Given the description of an element on the screen output the (x, y) to click on. 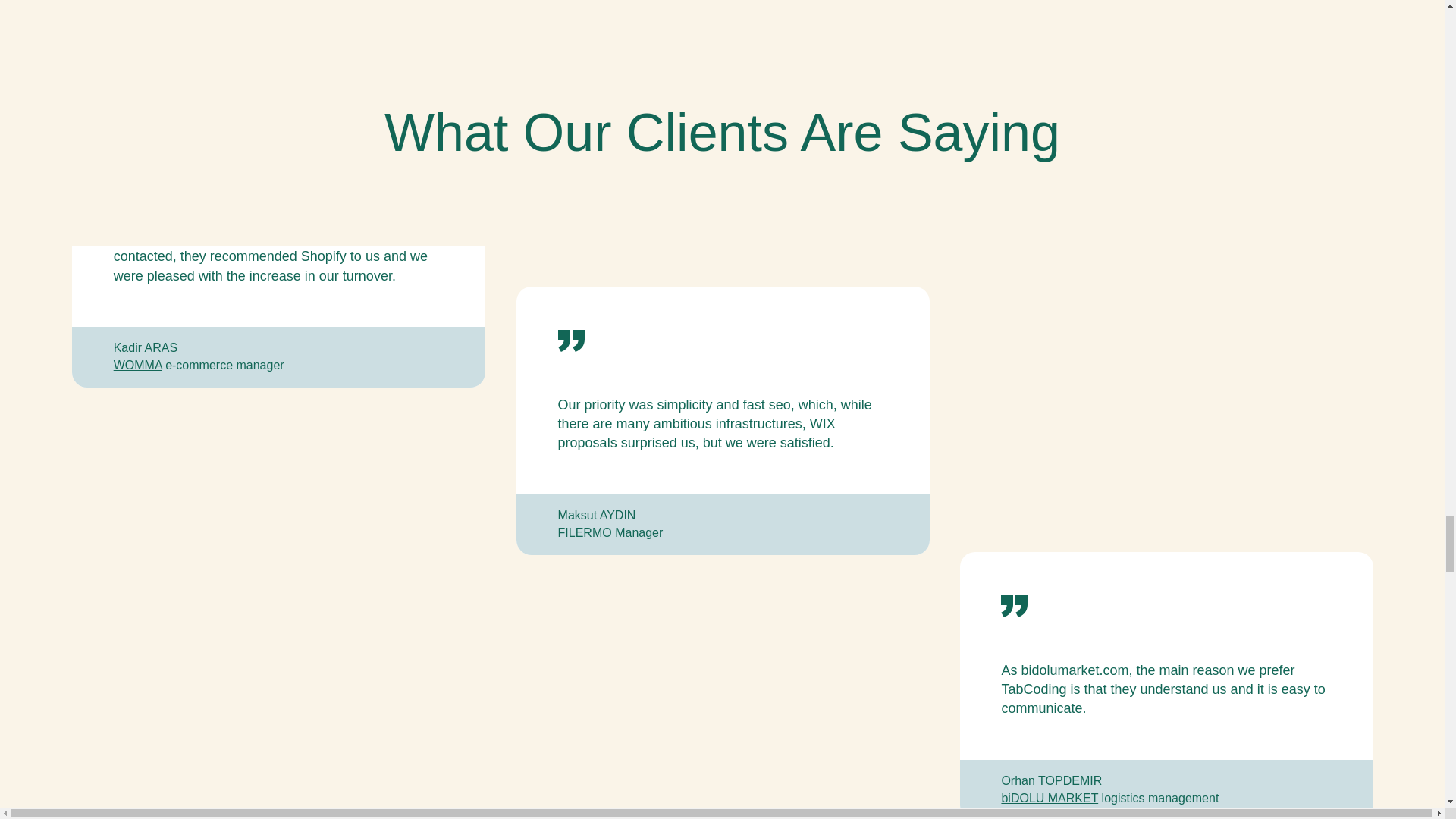
biDOLU MARKET (1049, 797)
WOMMA (137, 364)
